Given the description of an element on the screen output the (x, y) to click on. 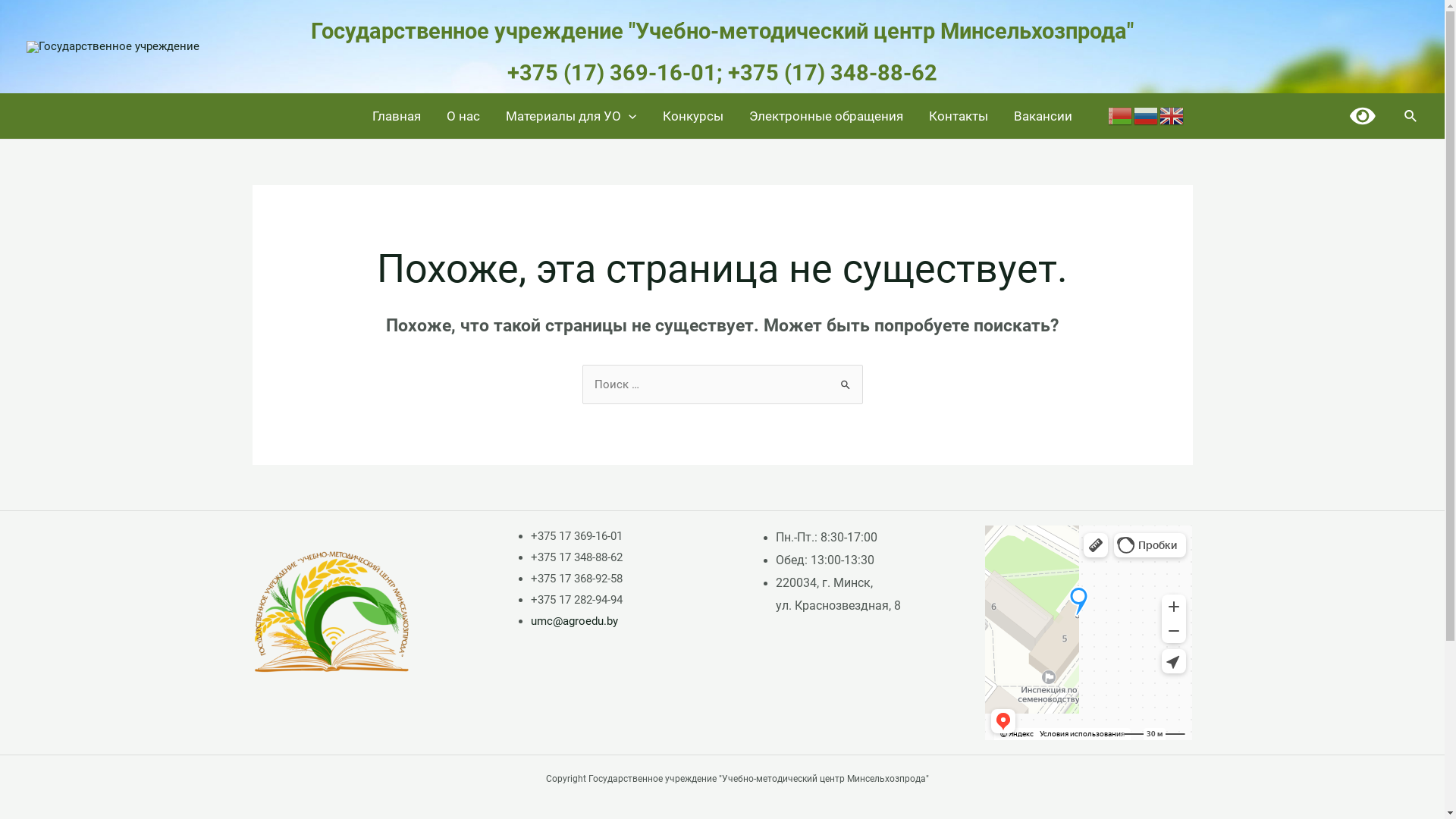
Belarusian Element type: hover (1120, 115)
English Element type: hover (1172, 115)
Russian Element type: hover (1146, 115)
umc@agroedu.by Element type: text (574, 620)
